Given the description of an element on the screen output the (x, y) to click on. 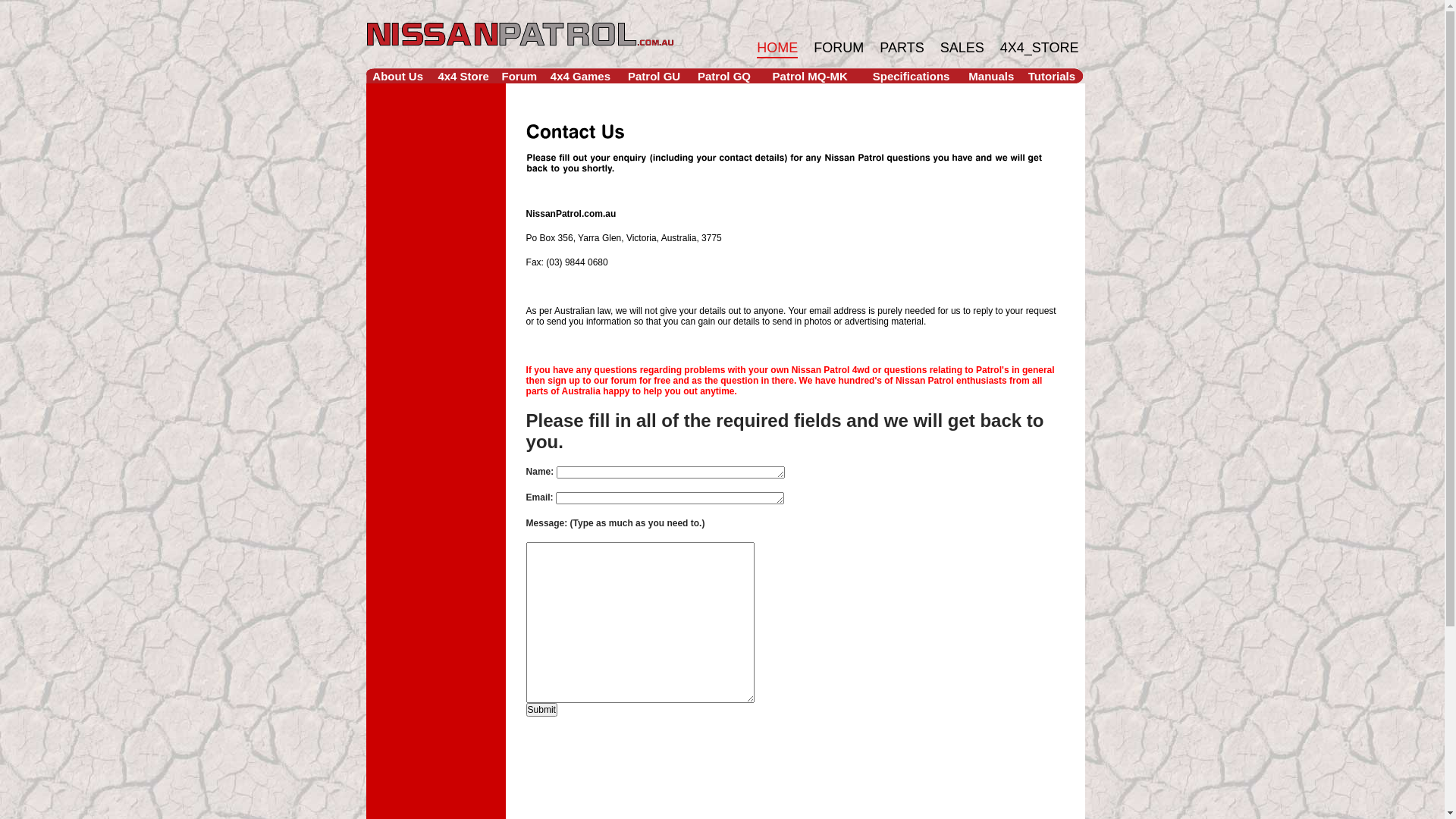
Manuals Element type: text (990, 75)
Advertisement Element type: hover (802, 774)
4X4_STORE Element type: text (1039, 48)
Patrol GQ Element type: text (723, 75)
HOME Element type: text (776, 49)
Specifications Element type: text (911, 75)
Forum Element type: text (518, 75)
4x4 Games Element type: text (580, 75)
Tutorials Element type: text (1051, 75)
SALES Element type: text (962, 48)
Advertisement Element type: hover (435, 390)
Patrol GU Element type: text (653, 75)
FORUM Element type: text (838, 48)
PARTS Element type: text (901, 48)
About Us Element type: text (397, 75)
Patrol MQ-MK Element type: text (809, 75)
4x4 Store Element type: text (463, 75)
